Given the description of an element on the screen output the (x, y) to click on. 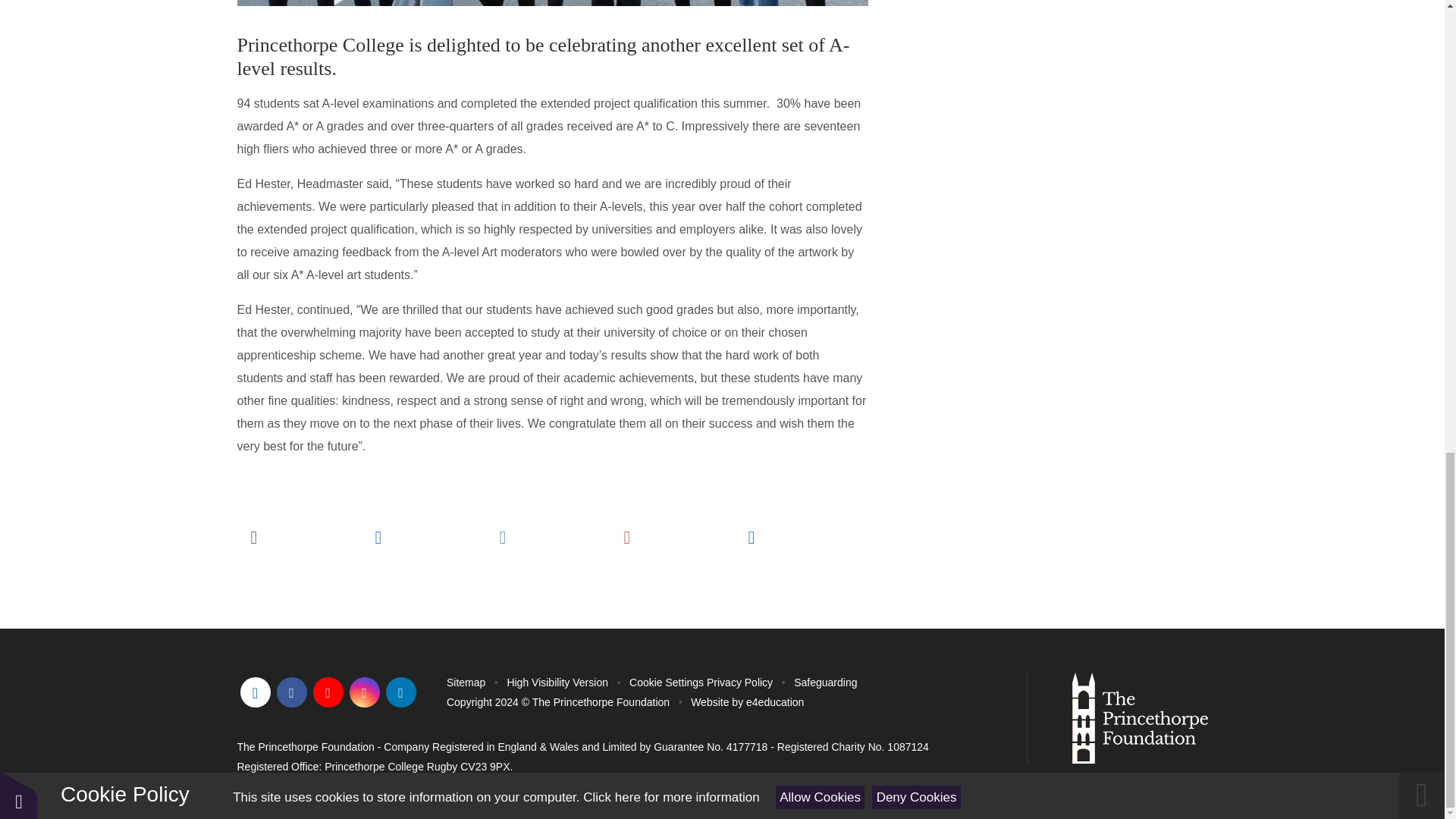
Cookie Settings (665, 682)
